Given the description of an element on the screen output the (x, y) to click on. 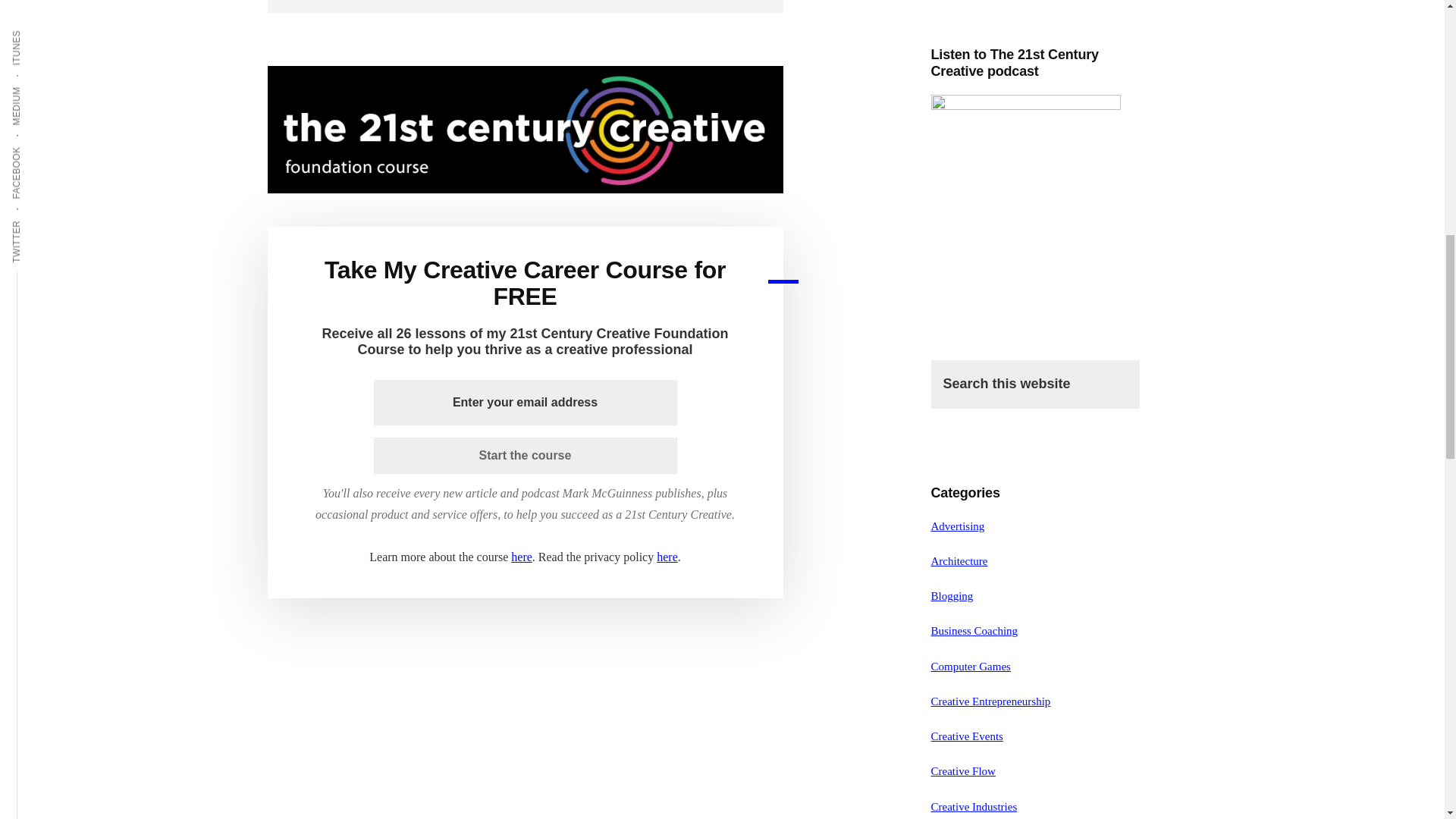
here (667, 556)
Start the course (524, 455)
Start the course (524, 455)
here (521, 556)
